Given the description of an element on the screen output the (x, y) to click on. 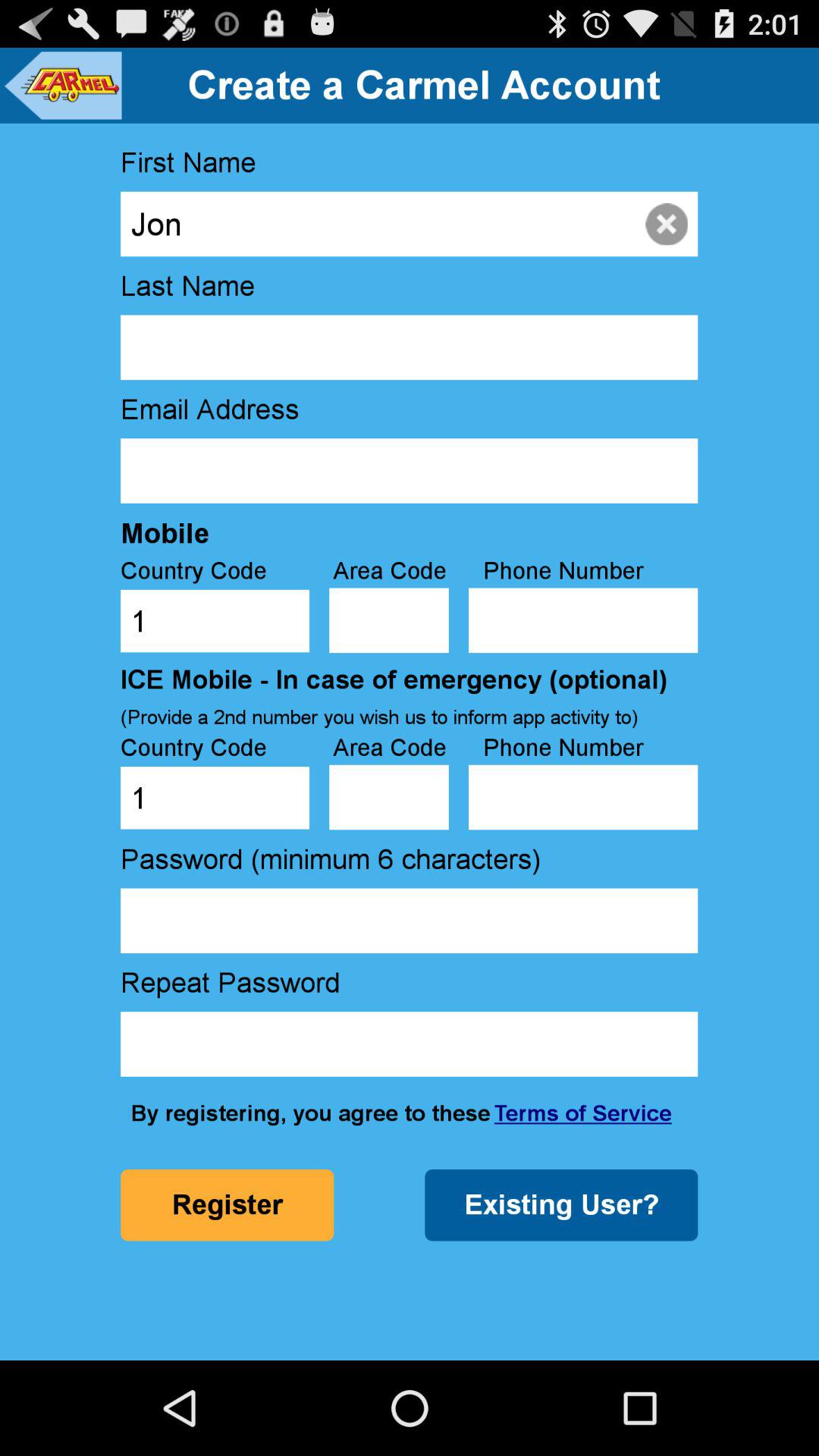
turn off the item above the email address (408, 347)
